Given the description of an element on the screen output the (x, y) to click on. 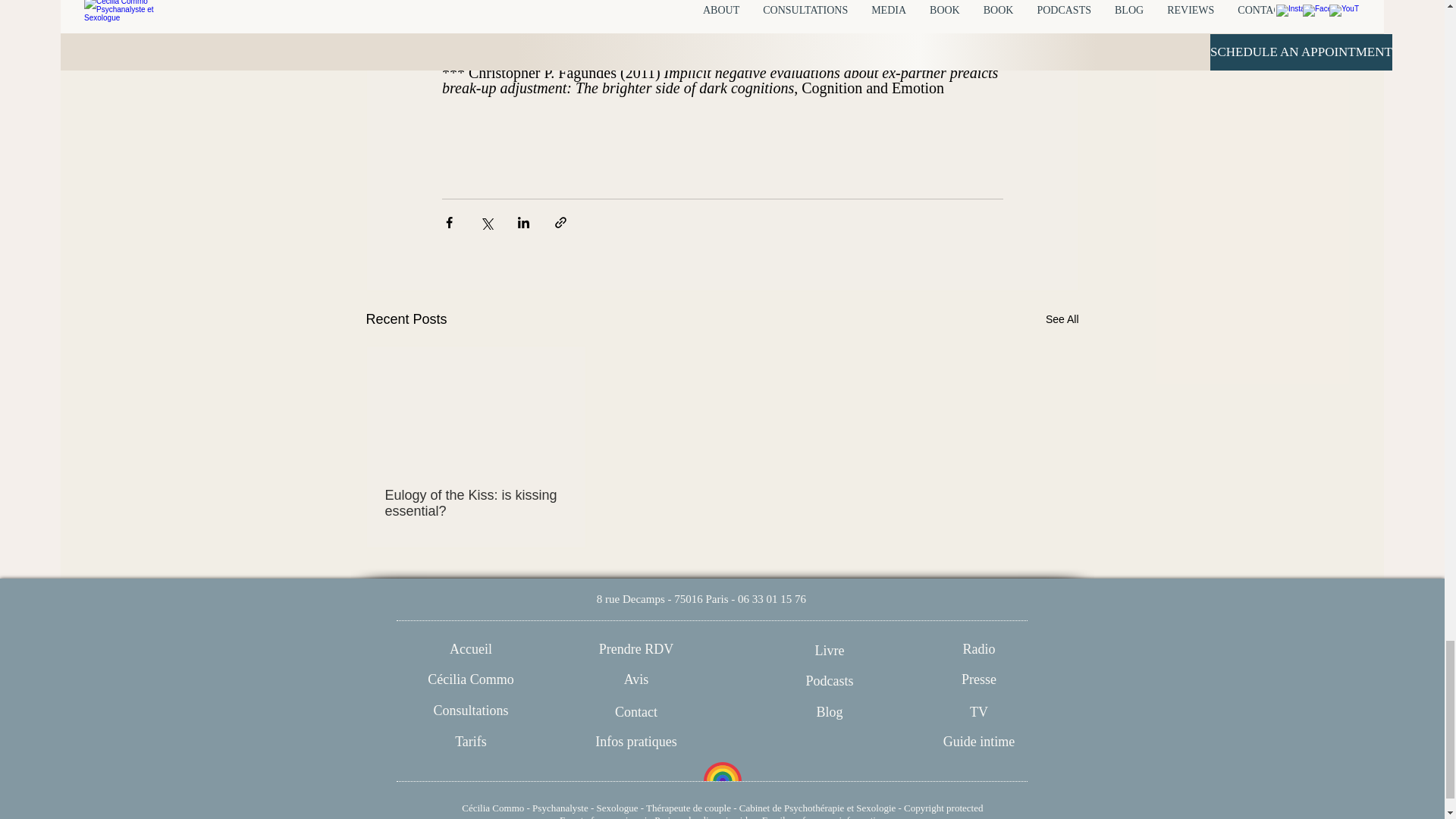
Podcasts (829, 681)
Consultations (471, 710)
Accueil (471, 649)
Tarifs (471, 741)
Livre (829, 650)
Prendre RDV (635, 649)
Avis (635, 679)
Infos pratiques (635, 741)
See All (1061, 319)
Eulogy of the Kiss: is kissing essential? (476, 503)
Contact (635, 711)
